Given the description of an element on the screen output the (x, y) to click on. 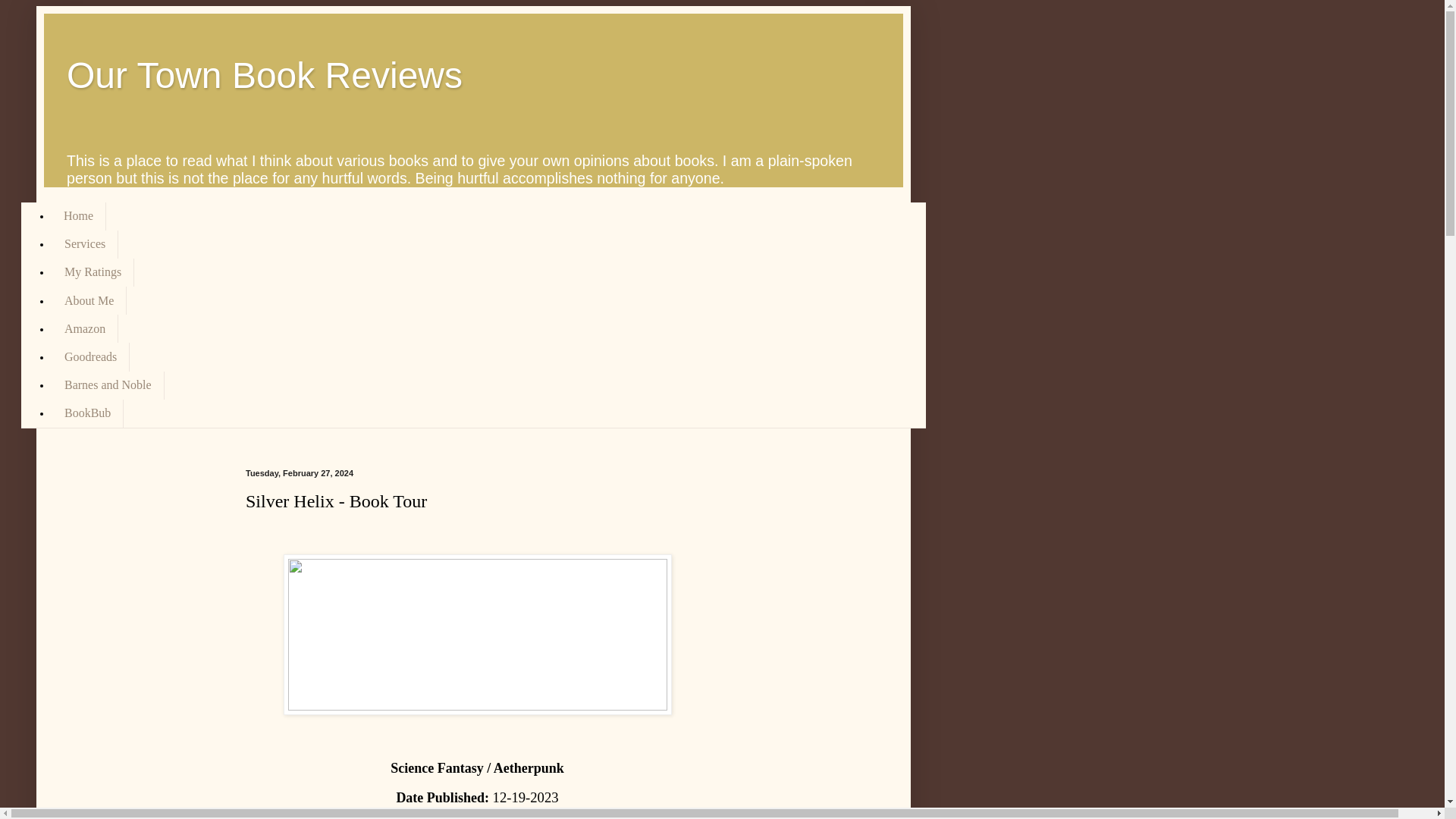
Our Town Book Reviews (264, 75)
Barnes and Noble (107, 385)
Services (83, 244)
BookBub (86, 413)
Goodreads (89, 357)
Amazon (83, 328)
Home (78, 215)
About Me (88, 300)
My Ratings (91, 272)
